Given the description of an element on the screen output the (x, y) to click on. 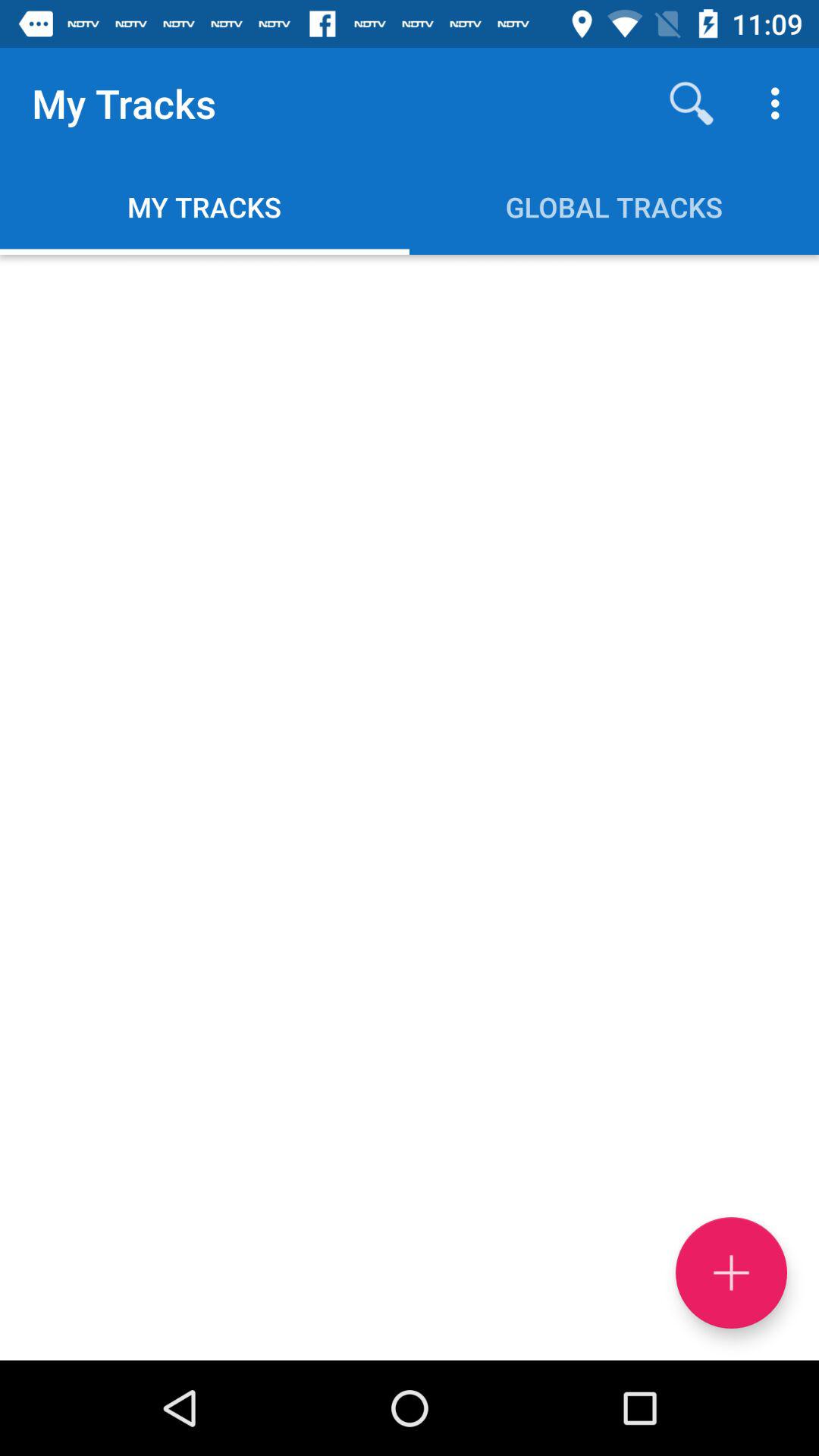
select the icon above global tracks icon (691, 103)
